Given the description of an element on the screen output the (x, y) to click on. 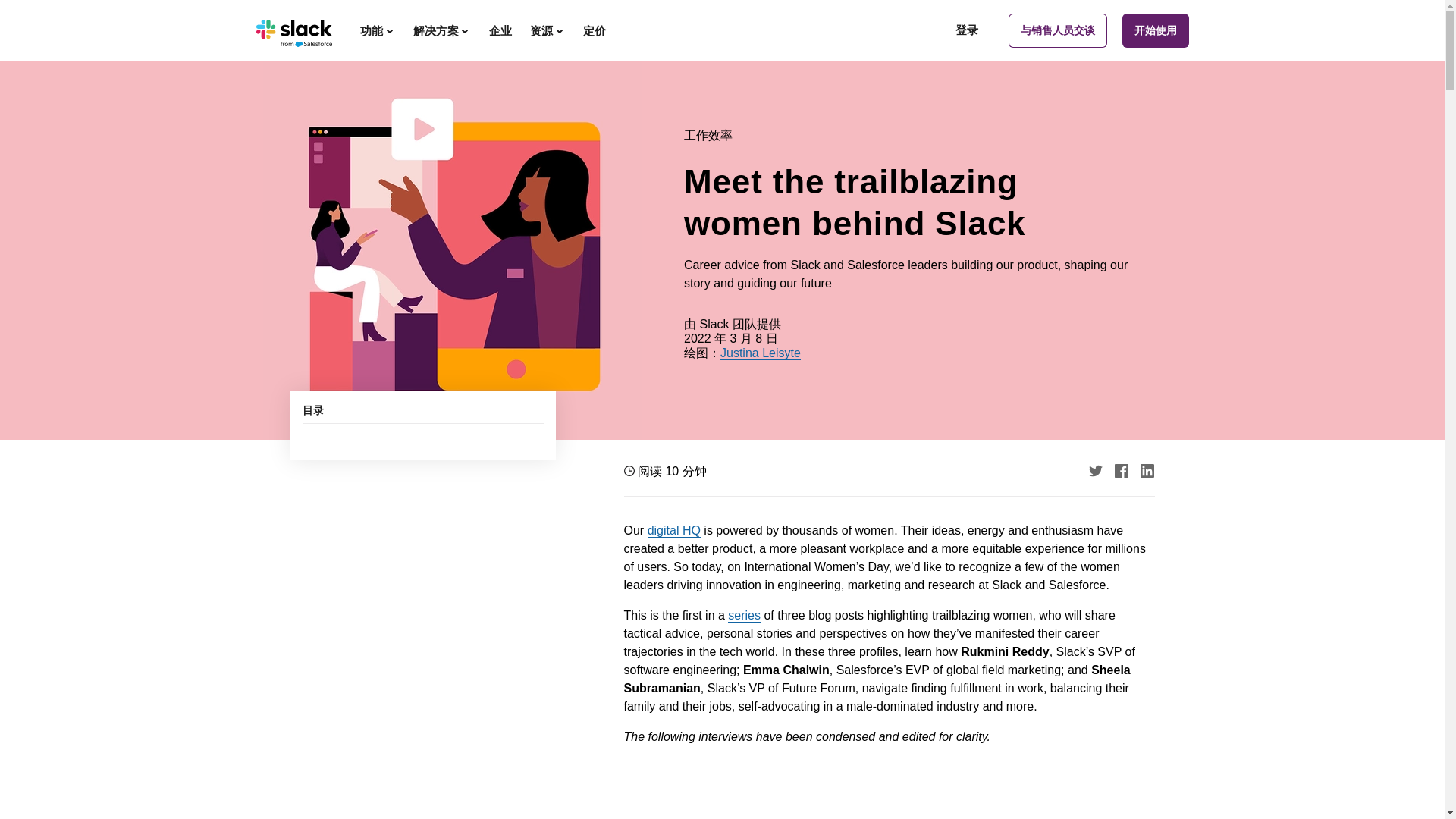
Facebook (1121, 470)
Twitter (1095, 470)
LinkedIn (1147, 470)
